Given the description of an element on the screen output the (x, y) to click on. 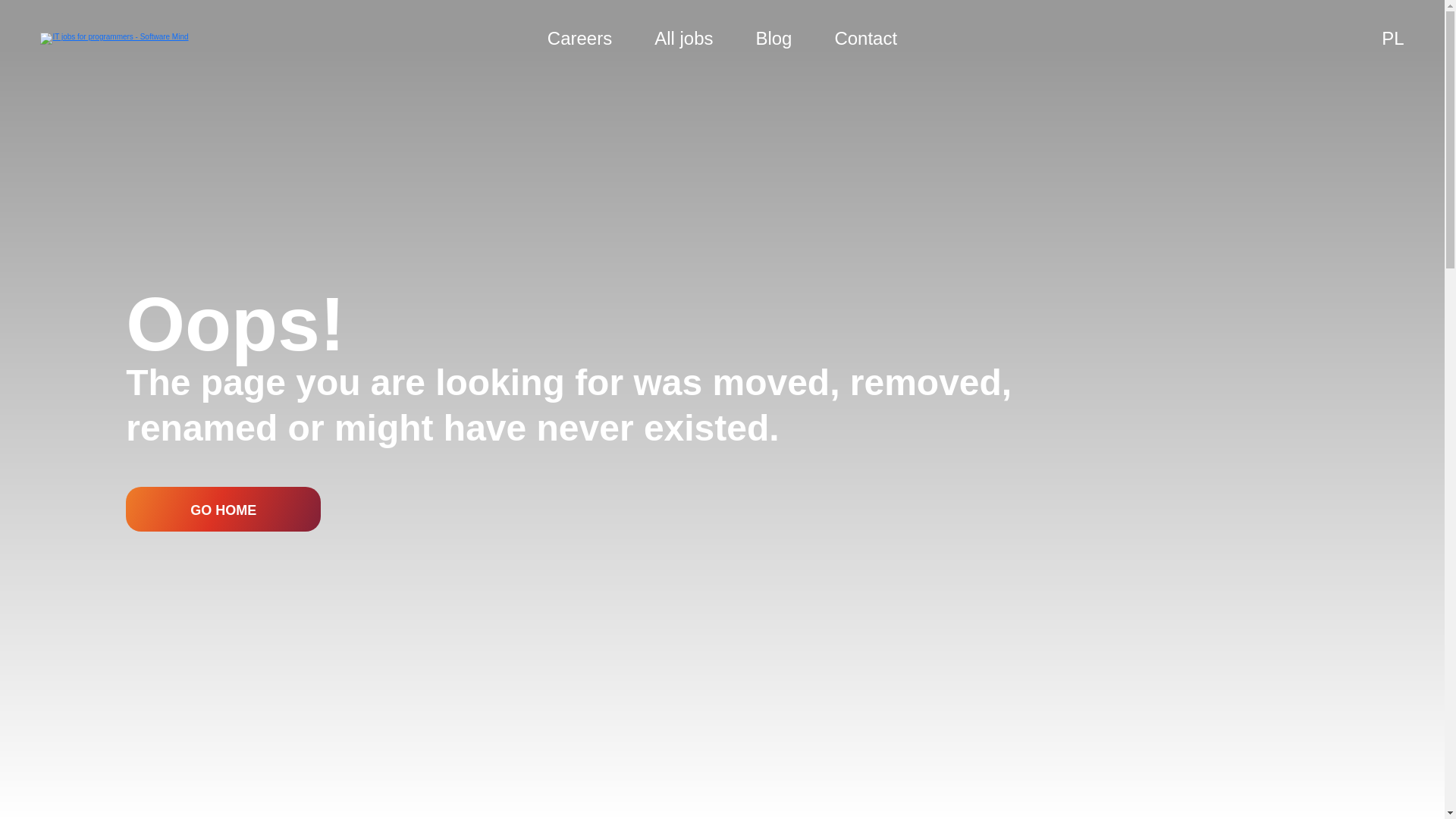
Contact (865, 38)
IT jobs for programmers - Software Mind (113, 38)
All jobs (683, 37)
IT recruitment (683, 37)
GO HOME (222, 509)
Careers (579, 37)
PL (1392, 37)
Blog (773, 37)
Contact (865, 37)
